Given the description of an element on the screen output the (x, y) to click on. 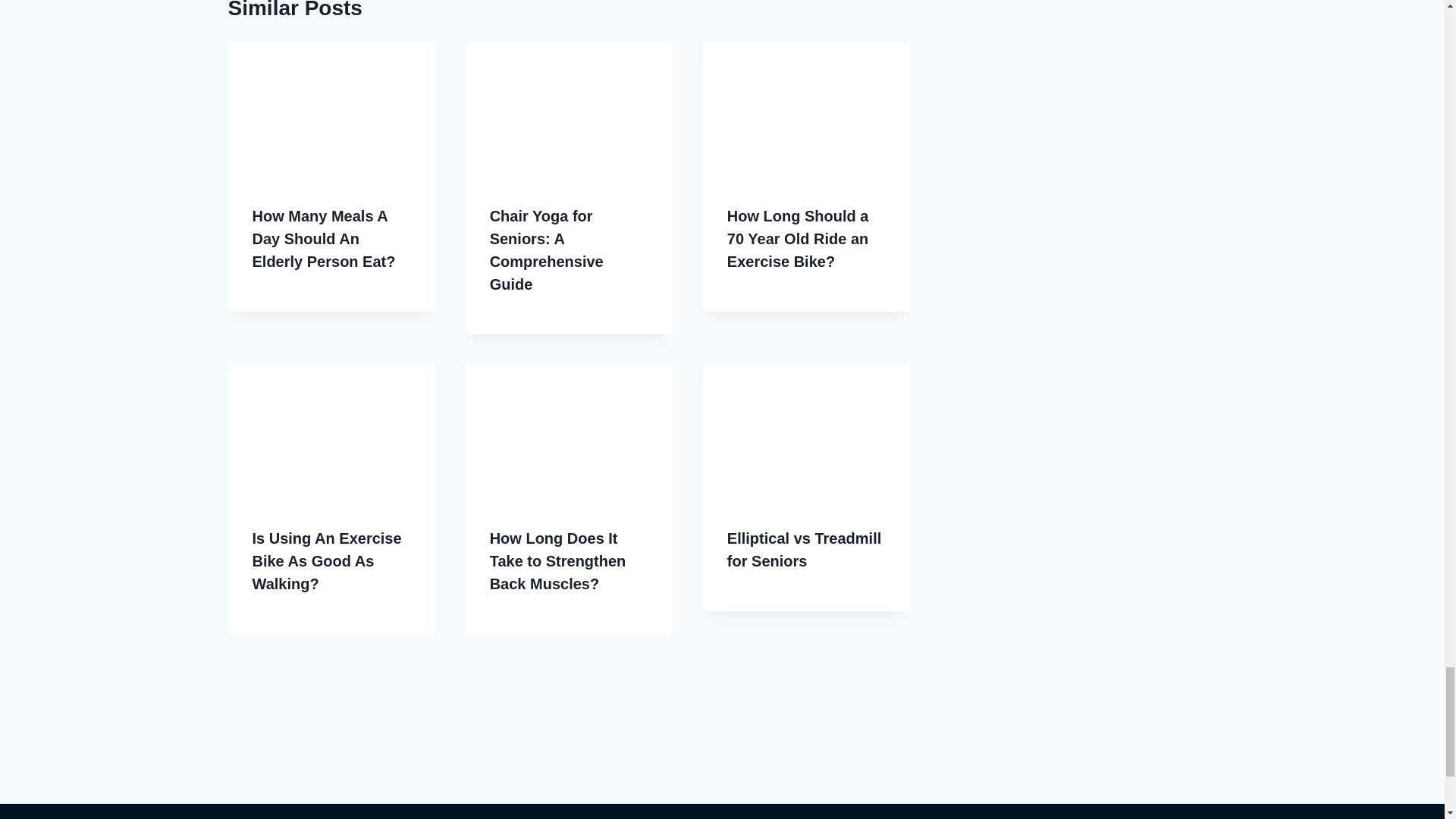
How Long Should a 70 Year Old Ride an Exercise Bike? (797, 239)
How Long Does It Take to Strengthen Back Muscles? (557, 560)
Elliptical vs Treadmill for Seniors (803, 549)
Is Using An Exercise Bike As Good As Walking? (326, 560)
How Many Meals A Day Should An Elderly Person Eat? (322, 239)
Chair Yoga for Seniors: A Comprehensive Guide (546, 250)
